Given the description of an element on the screen output the (x, y) to click on. 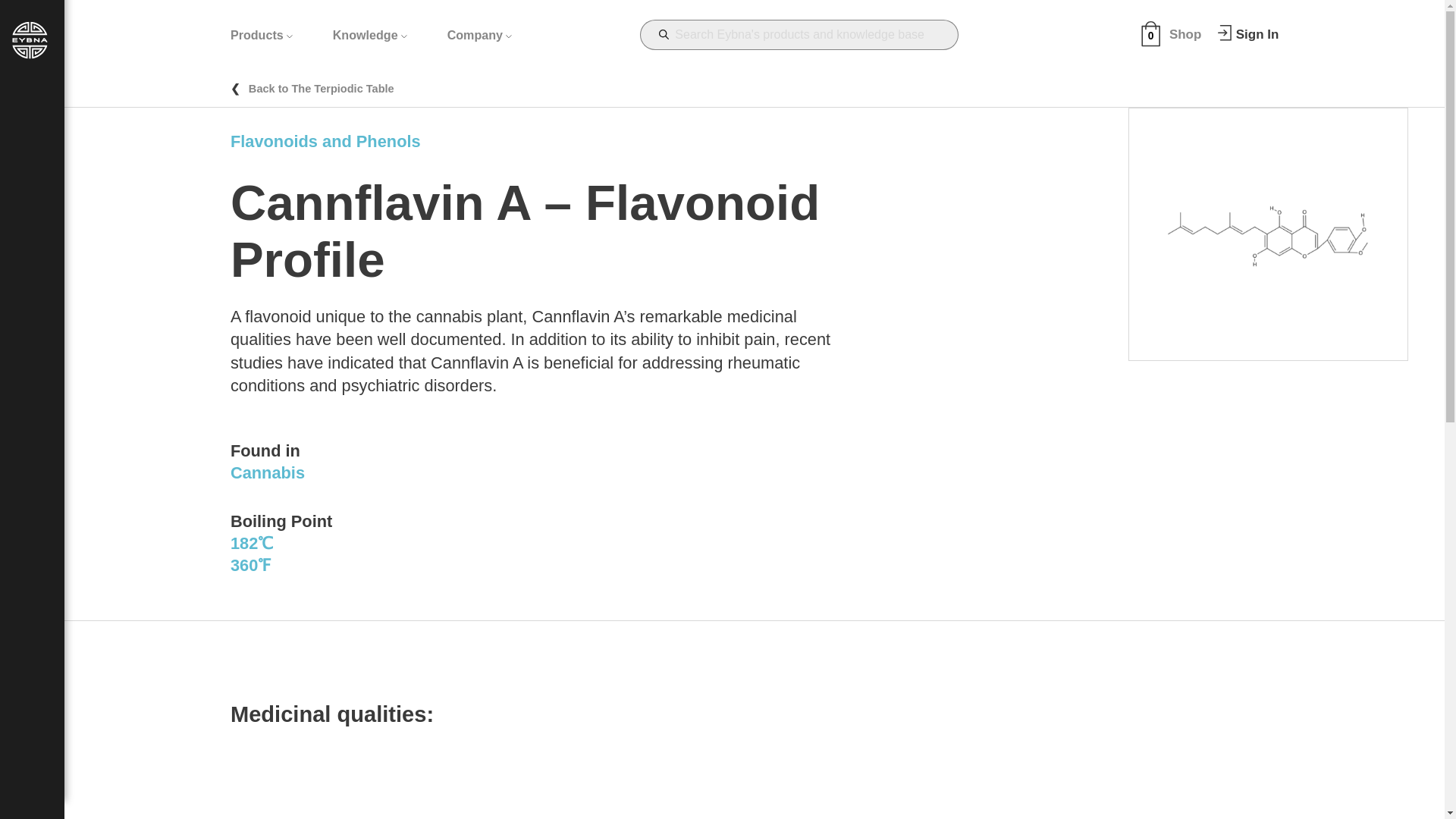
Eybna (29, 55)
Shop (1185, 34)
